Given the description of an element on the screen output the (x, y) to click on. 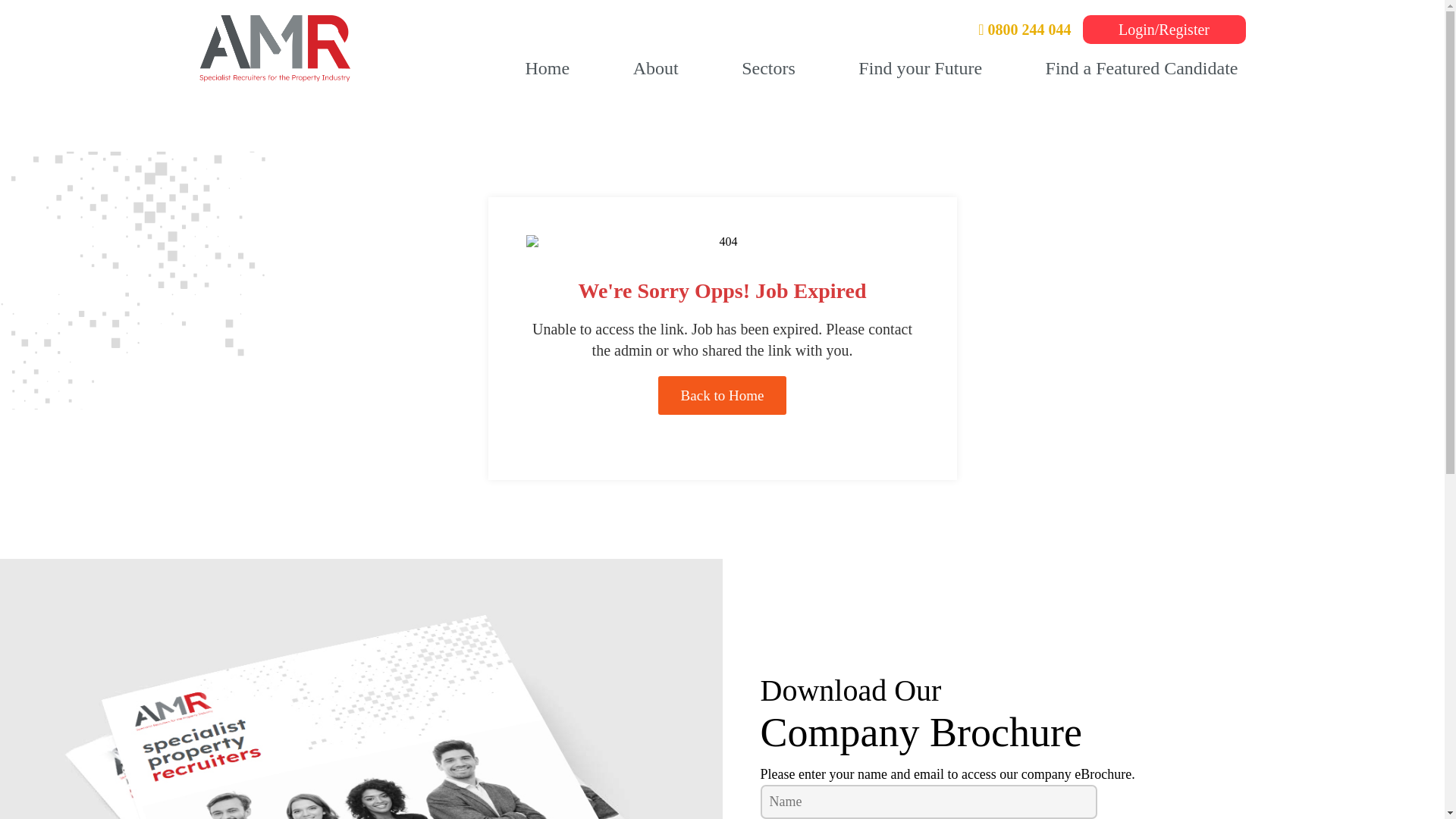
Home (546, 67)
Sectors (768, 67)
About (655, 67)
Find your Future (920, 67)
Find a Featured Candidate (1142, 67)
Back to Home (722, 394)
0800 244 044 (1024, 29)
